Given the description of an element on the screen output the (x, y) to click on. 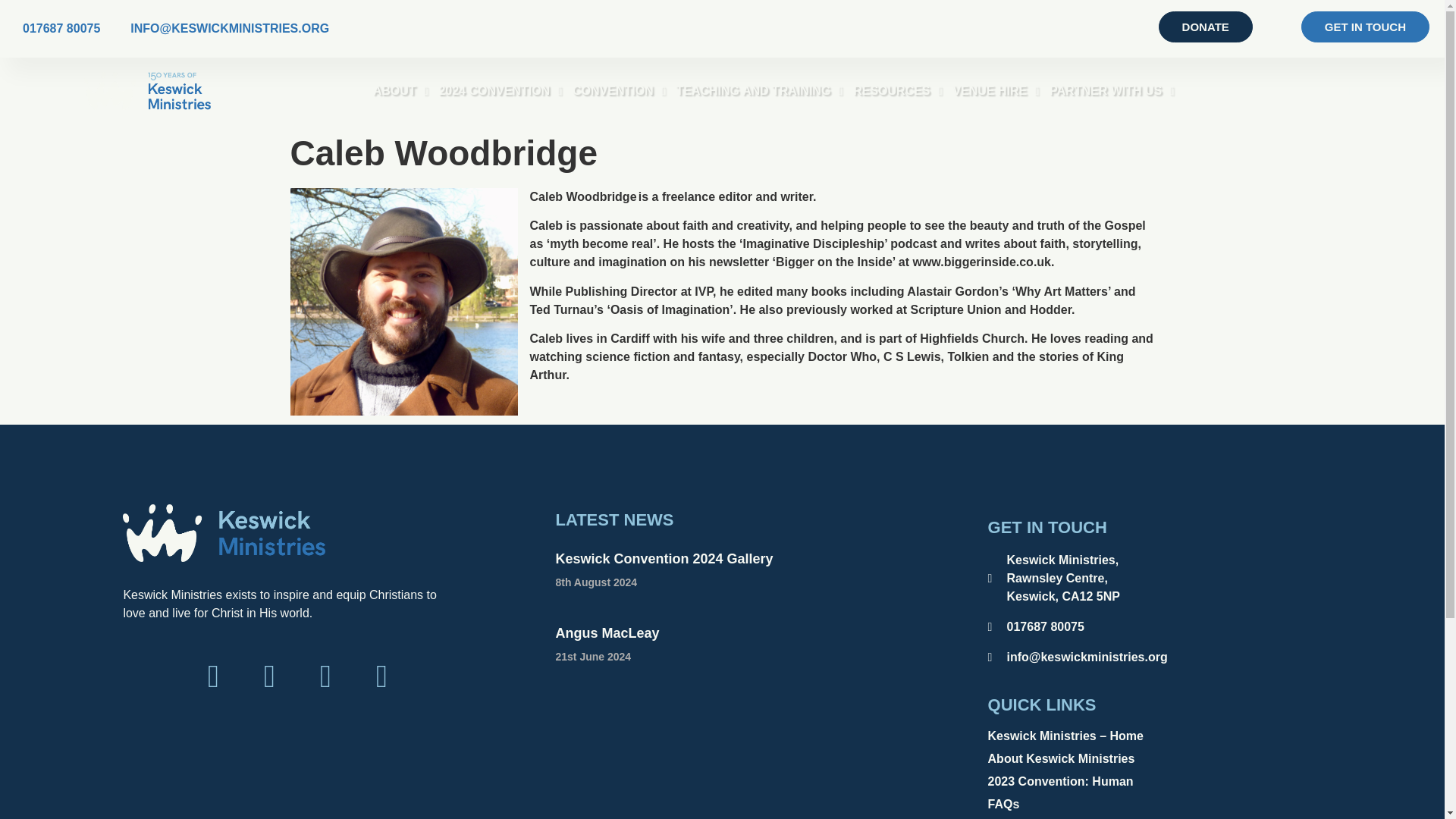
DONATE (1205, 26)
2024 CONVENTION (500, 90)
TEACHING AND TRAINING (760, 90)
ABOUT (400, 90)
RESOURCES (897, 90)
CONVENTION (618, 90)
GET IN TOUCH (1365, 26)
